Given the description of an element on the screen output the (x, y) to click on. 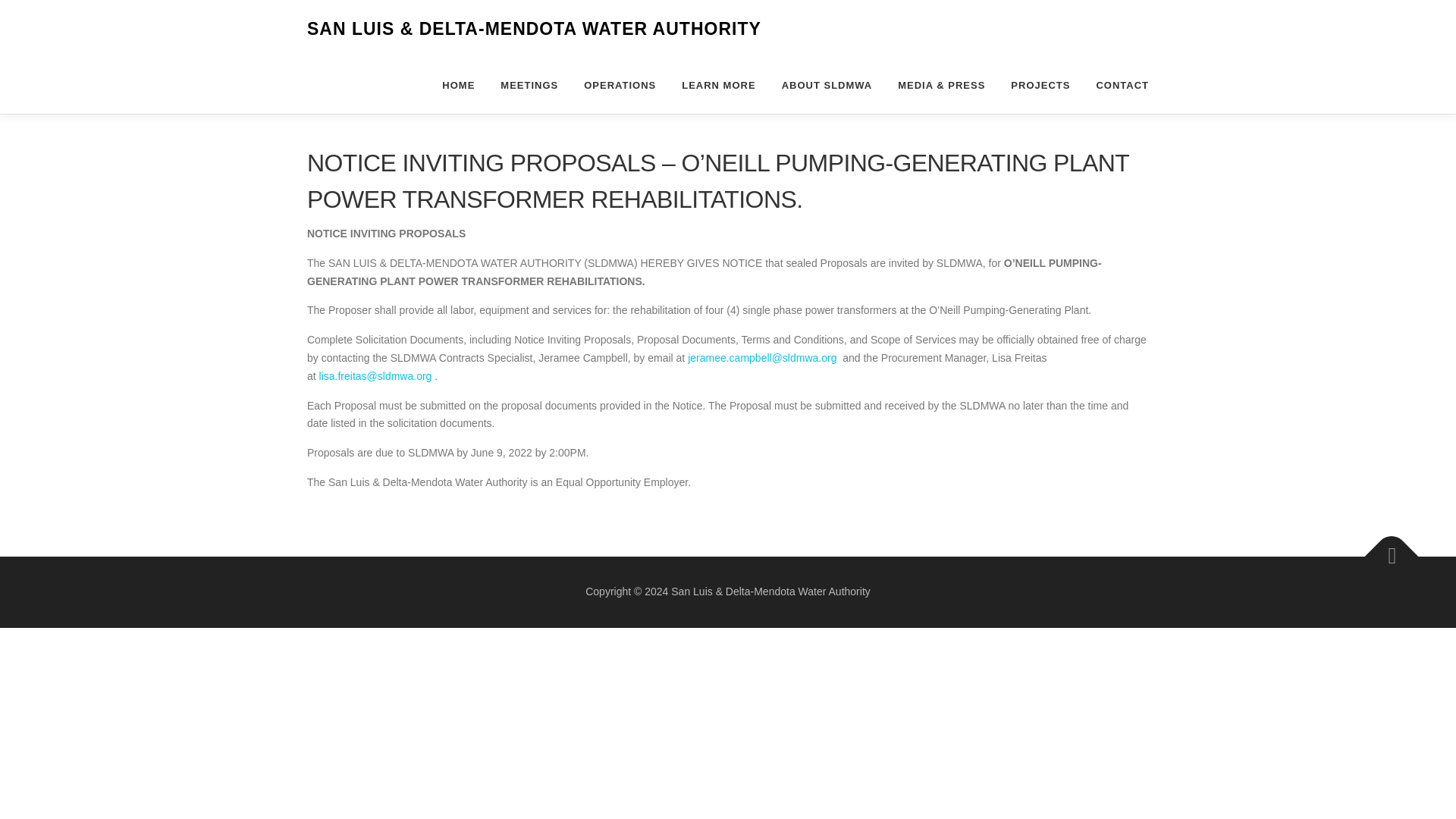
Back To Top (1384, 548)
OPERATIONS (619, 84)
HOME (458, 84)
MEETINGS (528, 84)
